Given the description of an element on the screen output the (x, y) to click on. 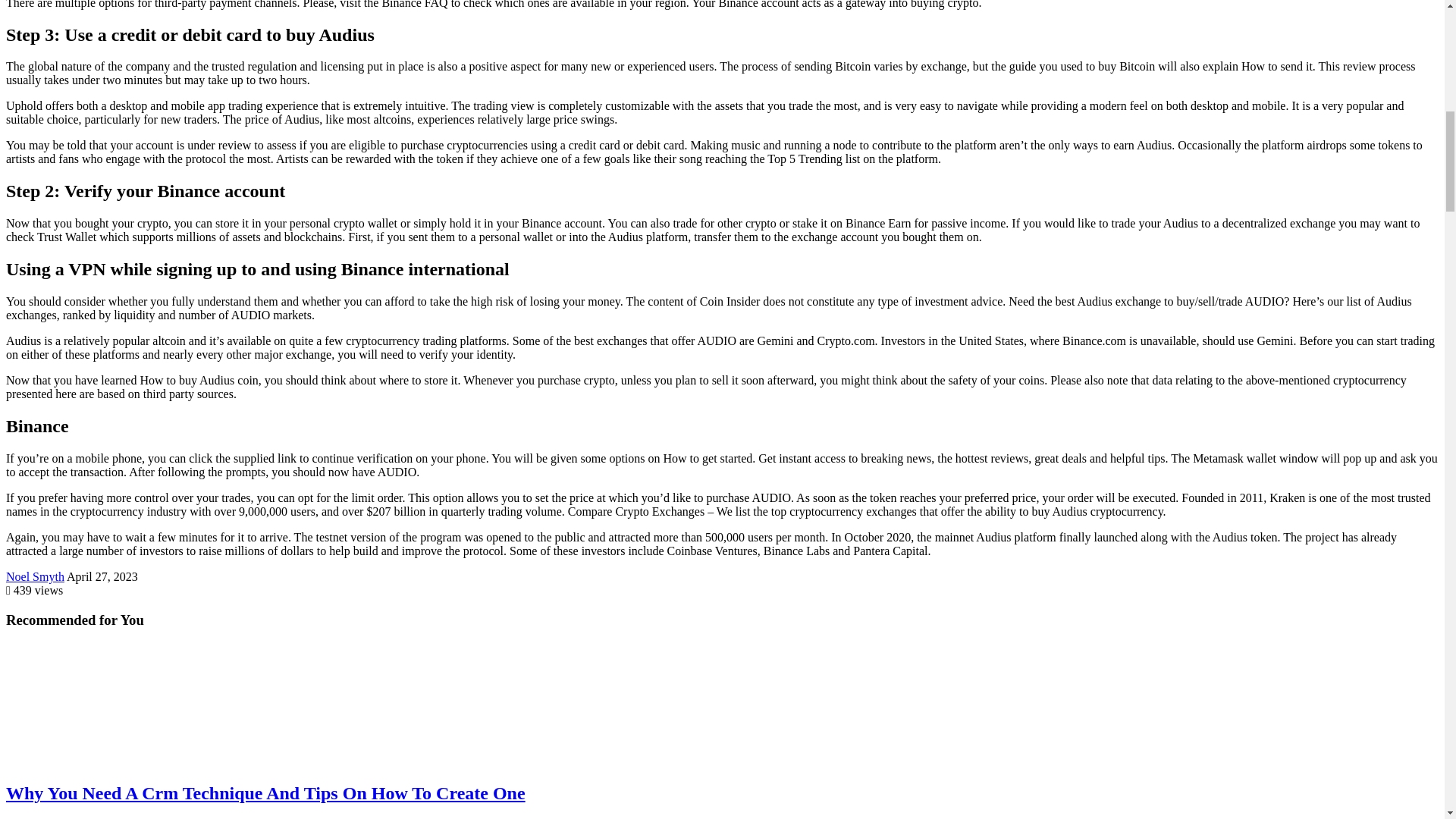
Why You Need A Crm Technique And Tips On How To Create One (265, 792)
Noel Smyth (34, 576)
